Given the description of an element on the screen output the (x, y) to click on. 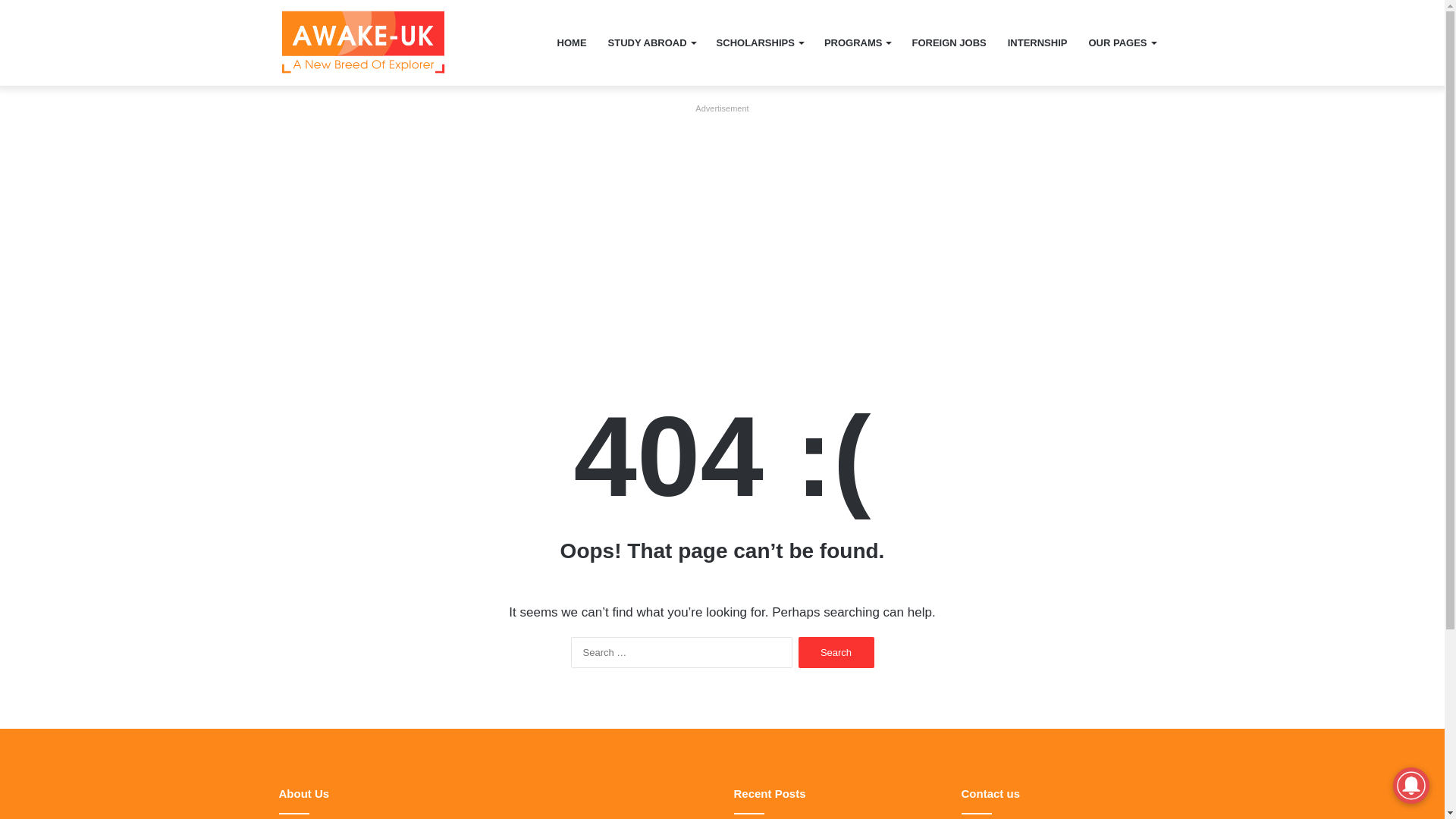
Awake UK (362, 42)
Search (835, 652)
Search (835, 652)
OUR PAGES (1121, 42)
STUDY ABROAD (651, 42)
INTERNSHIP (1037, 42)
PROGRAMS (857, 42)
Search (835, 652)
SCHOLARSHIPS (759, 42)
